Given the description of an element on the screen output the (x, y) to click on. 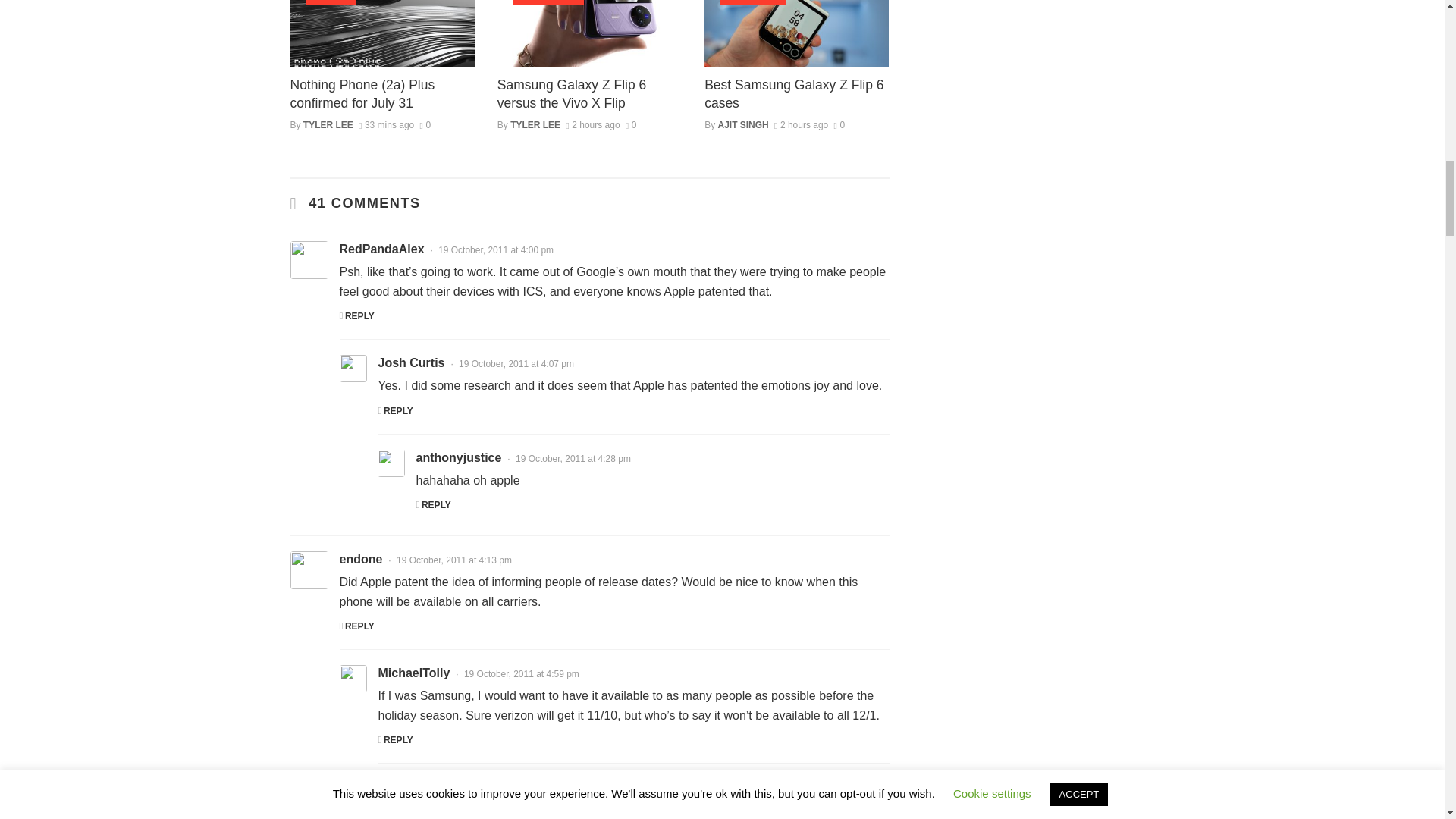
July 18, 2024 at 9:19 am (385, 124)
July 18, 2024 at 8:09 am (593, 124)
0 Comments (424, 124)
